Given the description of an element on the screen output the (x, y) to click on. 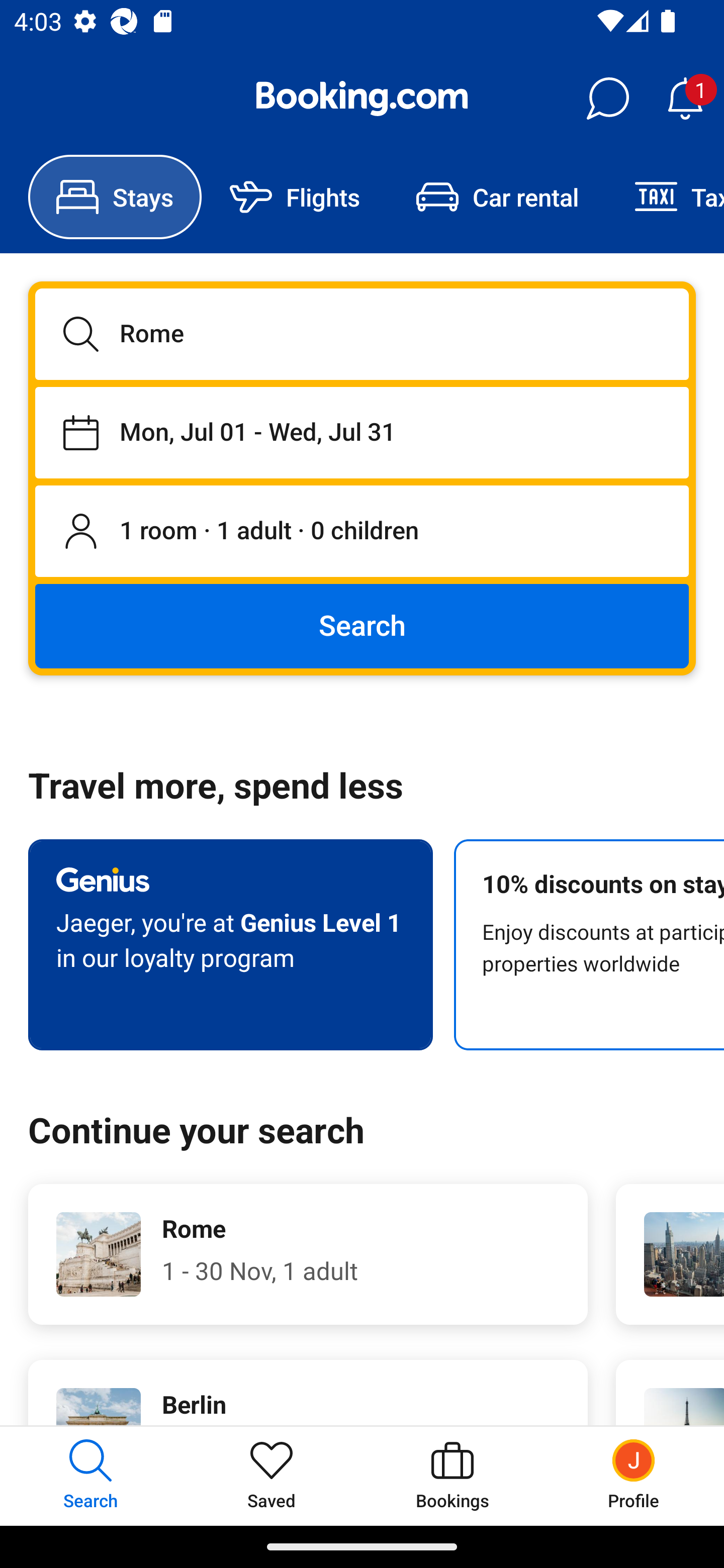
Messages (607, 98)
Notifications (685, 98)
Stays (114, 197)
Flights (294, 197)
Car rental (497, 197)
Taxi (665, 197)
Rome (361, 333)
Staying from Mon, Jul 01 until Wed, Jul 31 (361, 432)
1 room, 1 adult, 0 children (361, 531)
Search (361, 625)
Rome 1 - 30 Nov, 1 adult (307, 1253)
Saved (271, 1475)
Bookings (452, 1475)
Profile (633, 1475)
